Given the description of an element on the screen output the (x, y) to click on. 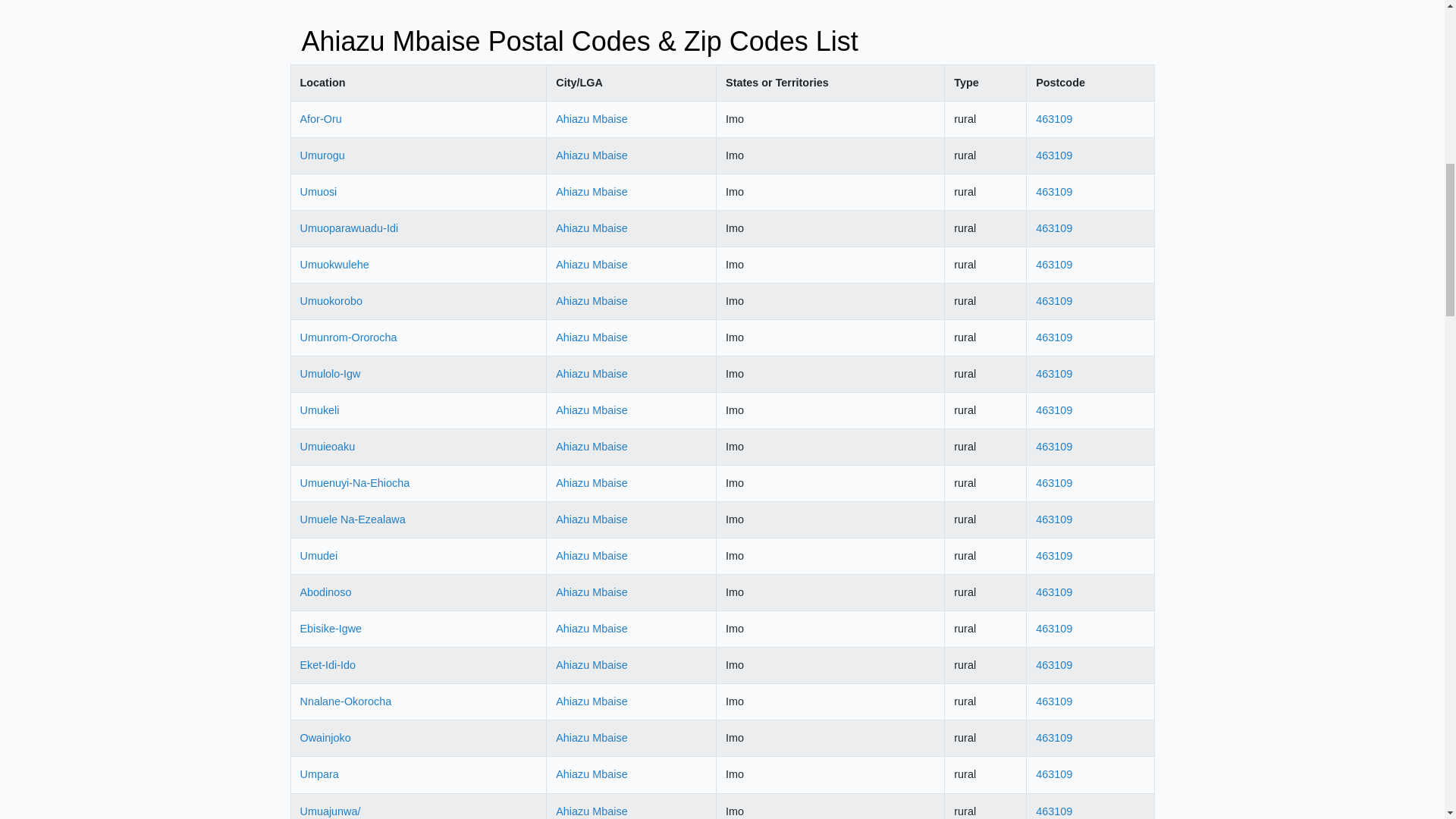
Umuokorobo (330, 300)
463109 (1053, 446)
Ahiazu Mbaise (591, 264)
463109 (1053, 227)
Umudei (318, 555)
463109 (1053, 410)
Umuenuyi-Na-Ehiocha (354, 482)
463109 (1053, 482)
Ahiazu Mbaise (591, 337)
Afor-Oru (320, 119)
463109 (1053, 119)
Ahiazu Mbaise (591, 155)
Ahiazu Mbaise (591, 119)
Umulolo-Igw (330, 373)
Ahiazu Mbaise (591, 482)
